Given the description of an element on the screen output the (x, y) to click on. 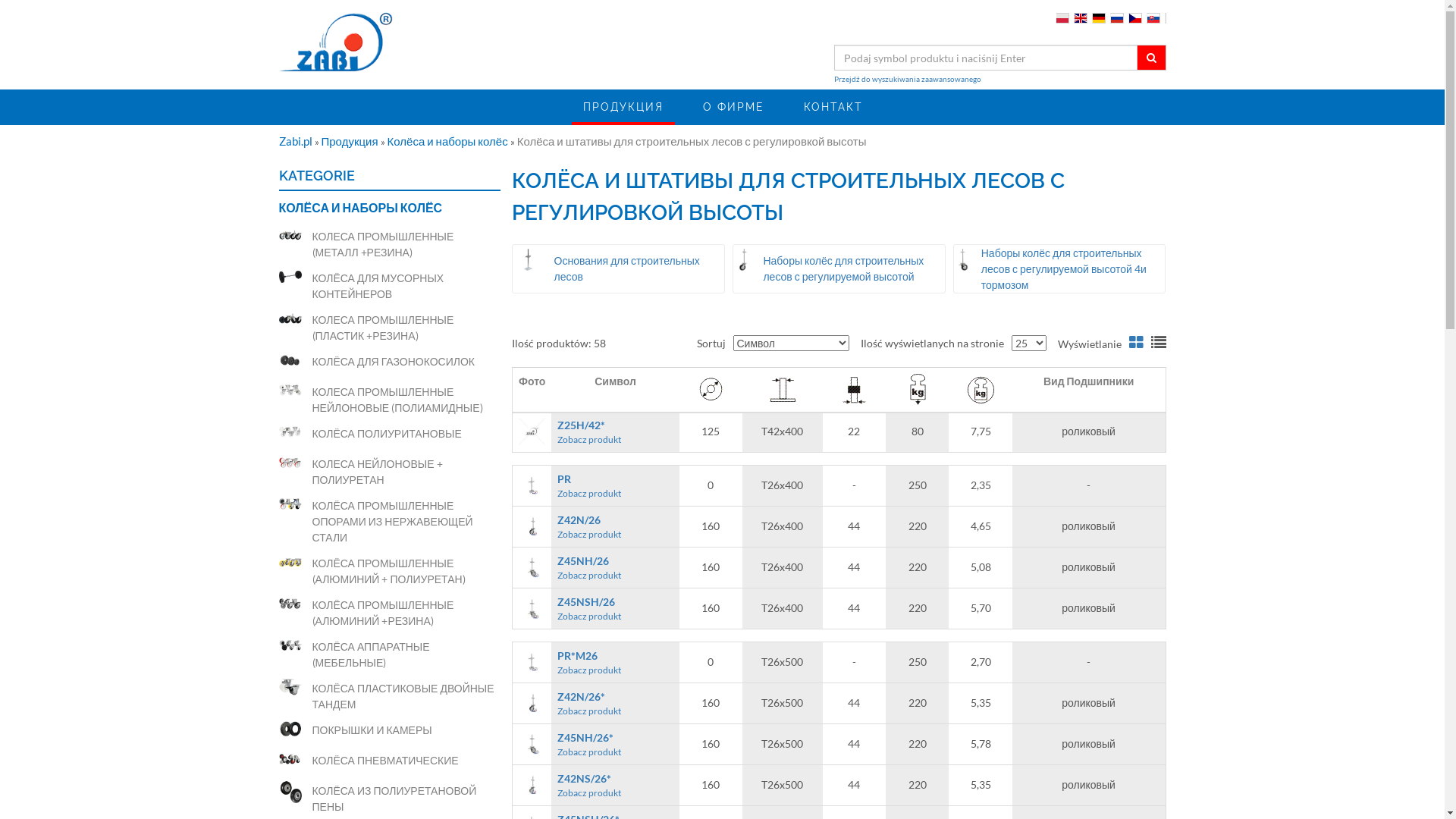
Z42N/26*
Zobacz produkt Element type: text (614, 703)
PR*M26
Zobacz produkt Element type: text (614, 662)
Z42N/26
Zobacz produkt Element type: text (614, 525)
Z45NH/26*
Zobacz produkt Element type: text (614, 744)
CZ Element type: hover (1134, 17)
SK Element type: hover (1152, 17)
Z25H/42*
Zobacz produkt Element type: text (614, 431)
Z42NS/26*
Zobacz produkt Element type: text (614, 785)
EN Element type: hover (1079, 17)
Z45NH/26
Zobacz produkt Element type: text (614, 566)
Z45NSH/26
Zobacz produkt Element type: text (614, 607)
RU Element type: hover (1116, 17)
PR
Zobacz produkt Element type: text (614, 484)
PL Element type: hover (1061, 17)
DE Element type: hover (1098, 17)
Zabi.pl Element type: text (296, 140)
